Given the description of an element on the screen output the (x, y) to click on. 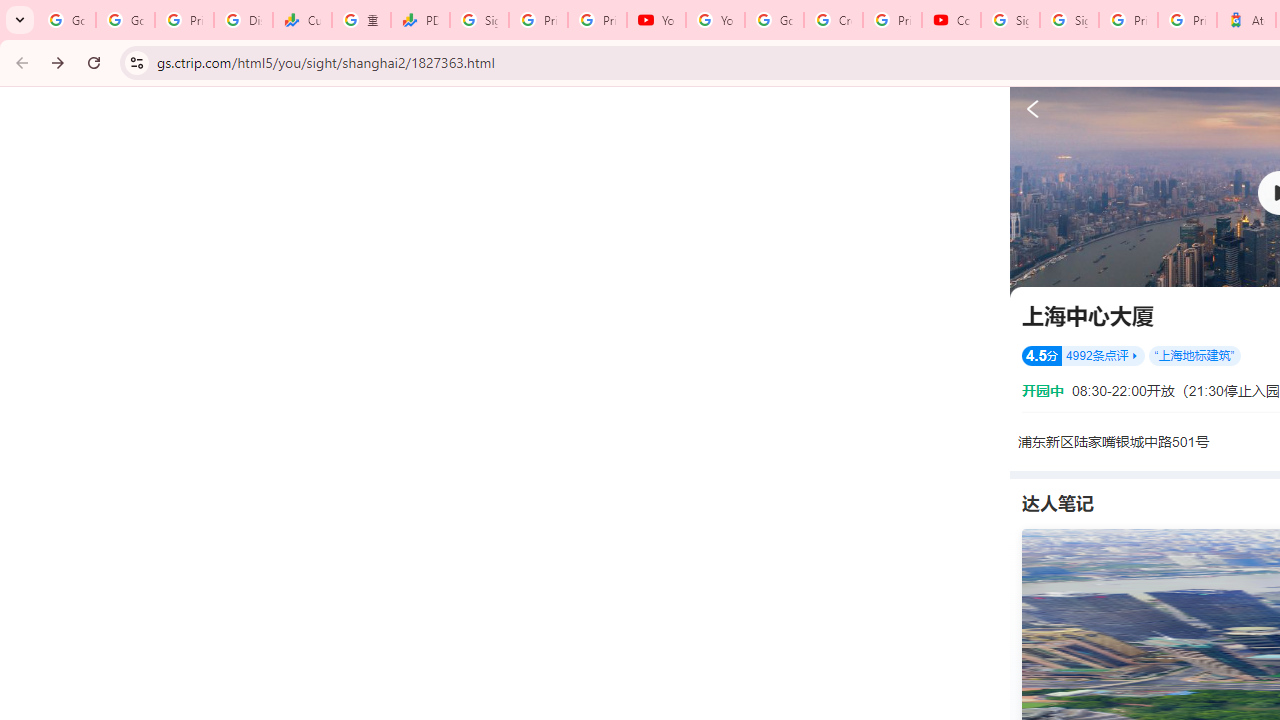
Create your Google Account (832, 20)
Sign in - Google Accounts (479, 20)
YouTube (656, 20)
Privacy Checkup (597, 20)
YouTube (715, 20)
Google Account Help (774, 20)
